Given the description of an element on the screen output the (x, y) to click on. 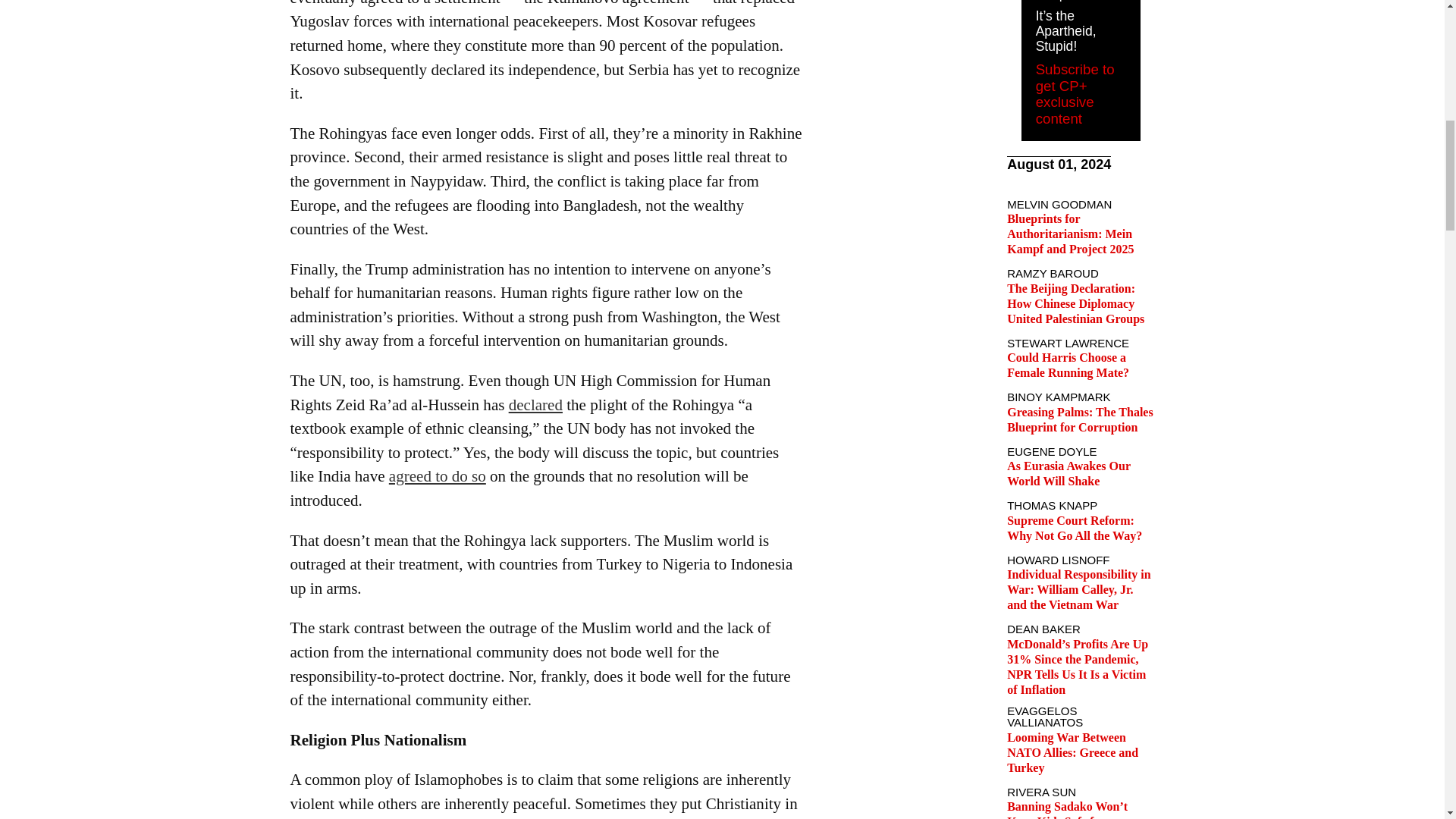
declared (535, 404)
agreed to do so (437, 475)
